Given the description of an element on the screen output the (x, y) to click on. 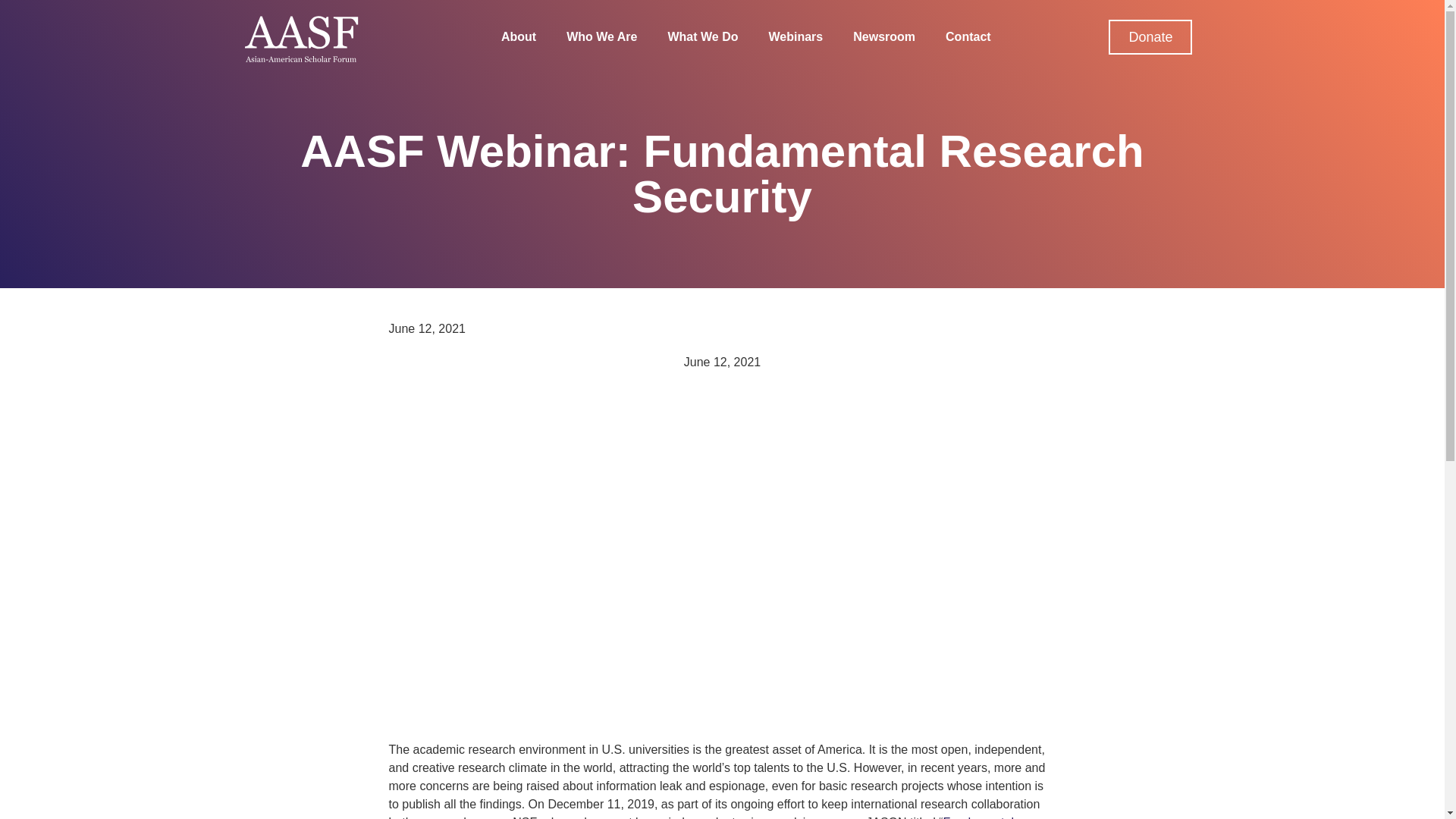
Who We Are (601, 36)
Donate (1150, 36)
Webinars (796, 36)
Newsroom (884, 36)
What We Do (702, 36)
About (517, 36)
Contact (967, 36)
